Given the description of an element on the screen output the (x, y) to click on. 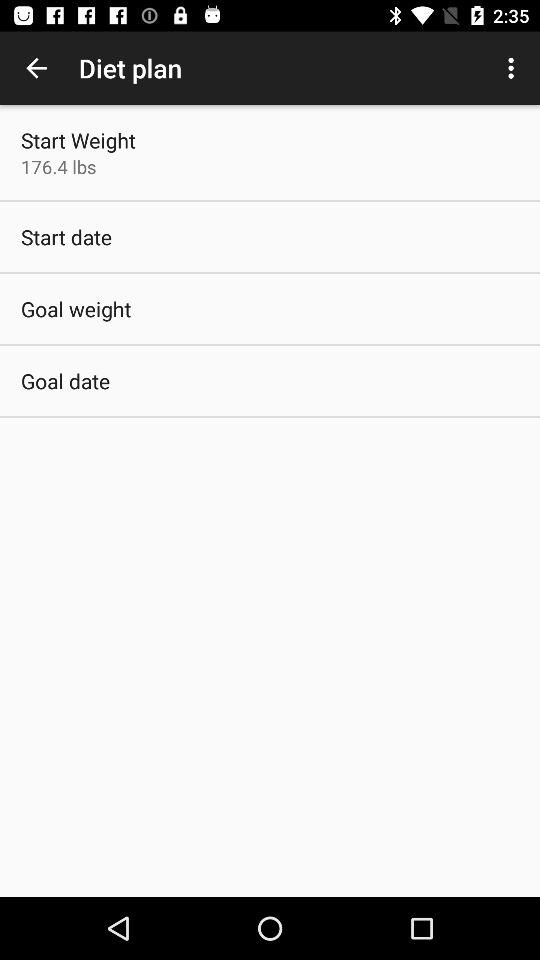
open the icon to the left of diet plan item (36, 68)
